Given the description of an element on the screen output the (x, y) to click on. 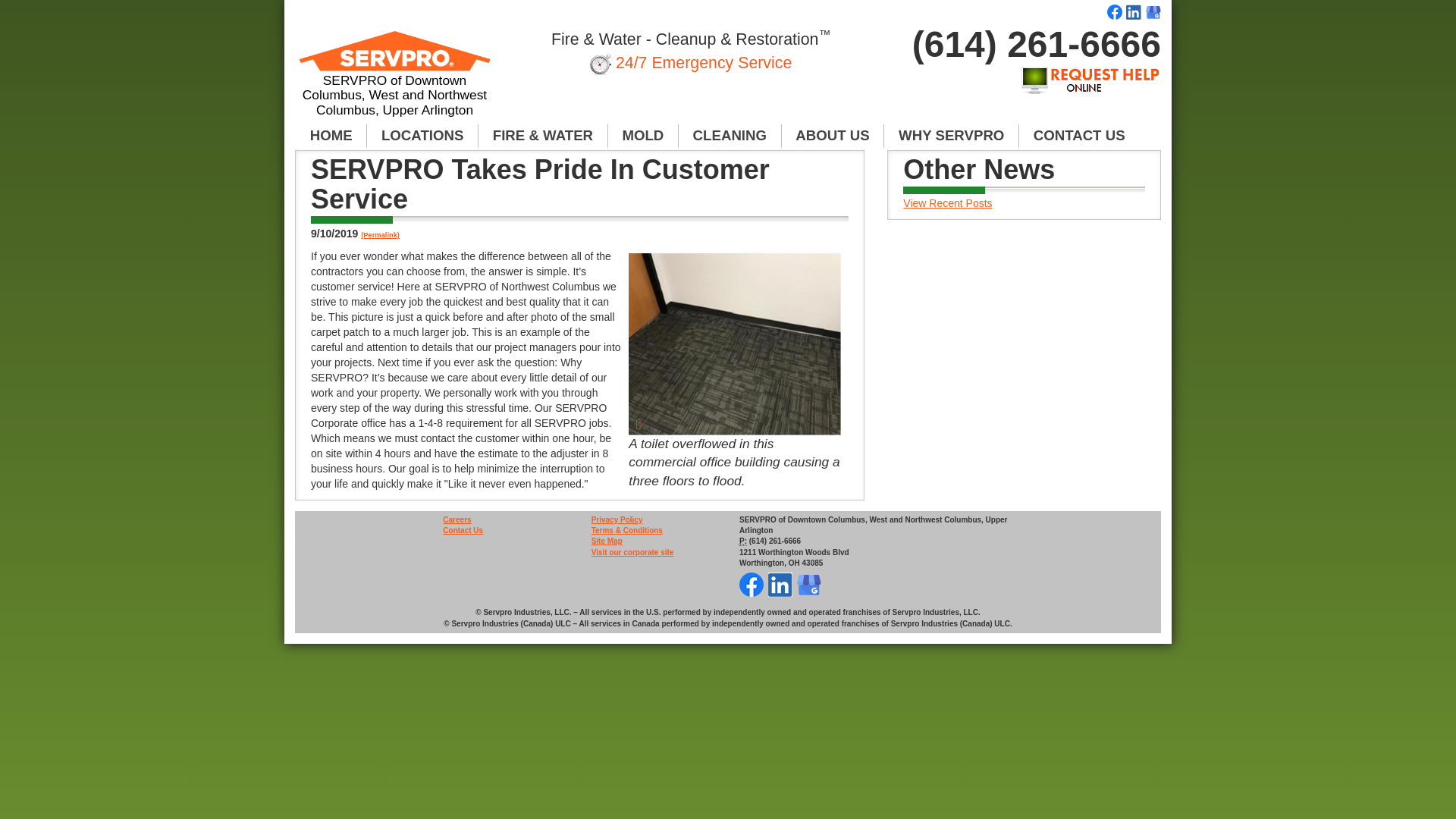
CLEANING (729, 136)
MOLD (643, 136)
LOCATIONS (422, 136)
HOME (330, 136)
